Given the description of an element on the screen output the (x, y) to click on. 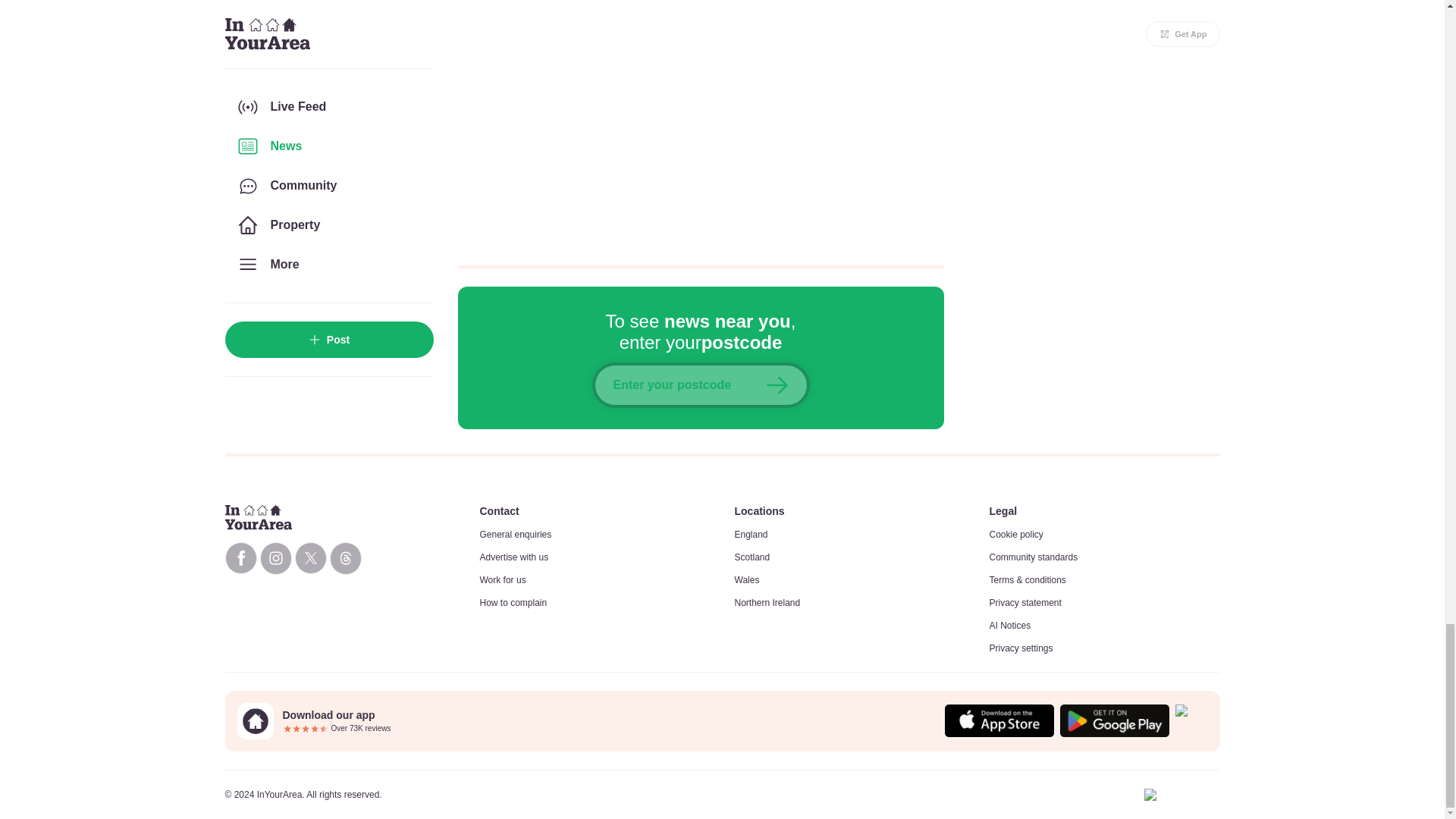
InYourArea Facebook (240, 558)
InYourArea Threads (345, 558)
InYourArea X (310, 558)
InYourArea Instagram (275, 558)
comments (701, 122)
